Given the description of an element on the screen output the (x, y) to click on. 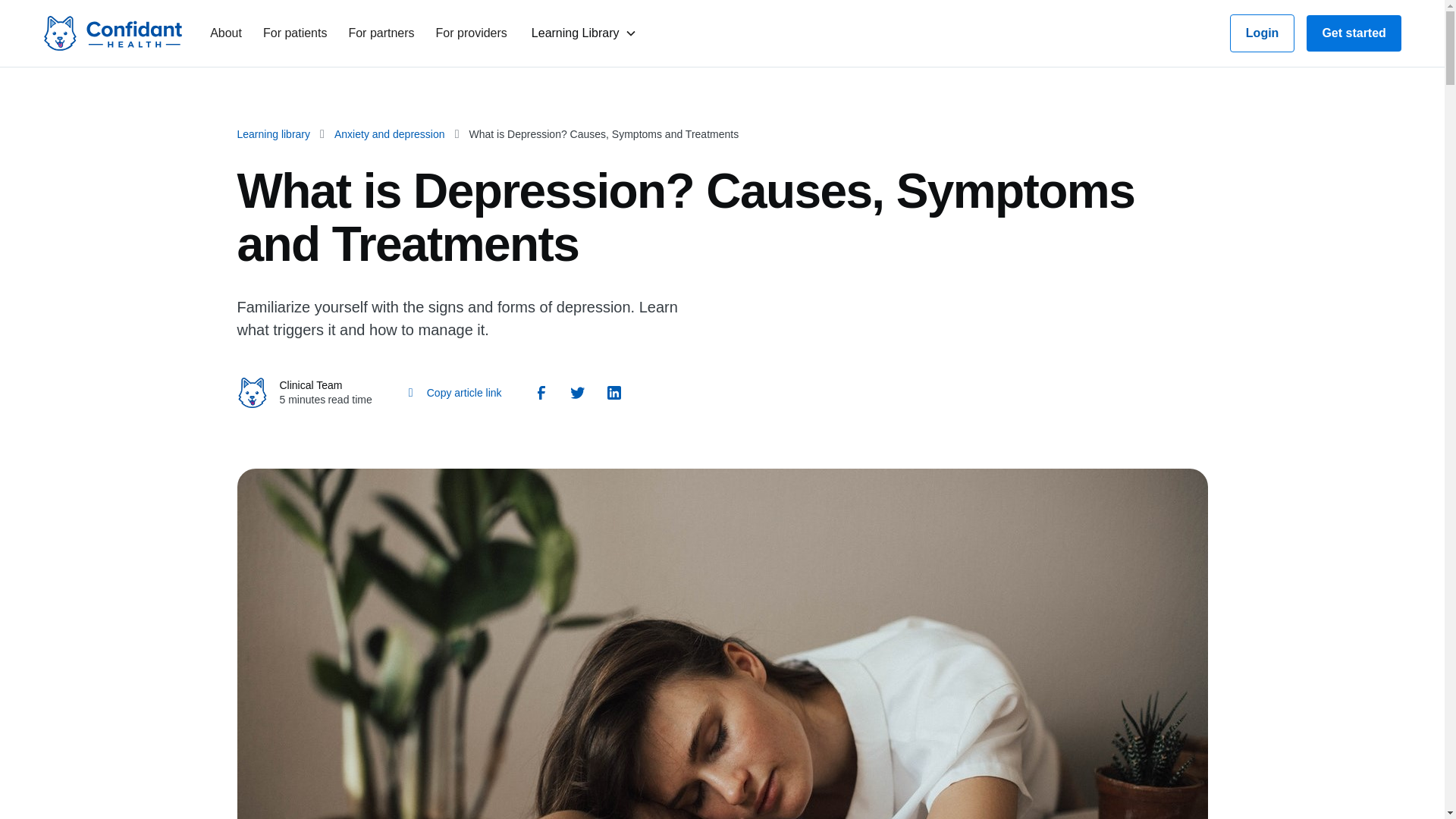
Anxiety and depression (389, 133)
Get started (1353, 33)
For partners (382, 33)
For patients (296, 33)
Login (1262, 33)
Learning library (272, 133)
For providers (472, 33)
Learning Library (575, 33)
Clinical Team (310, 385)
